Given the description of an element on the screen output the (x, y) to click on. 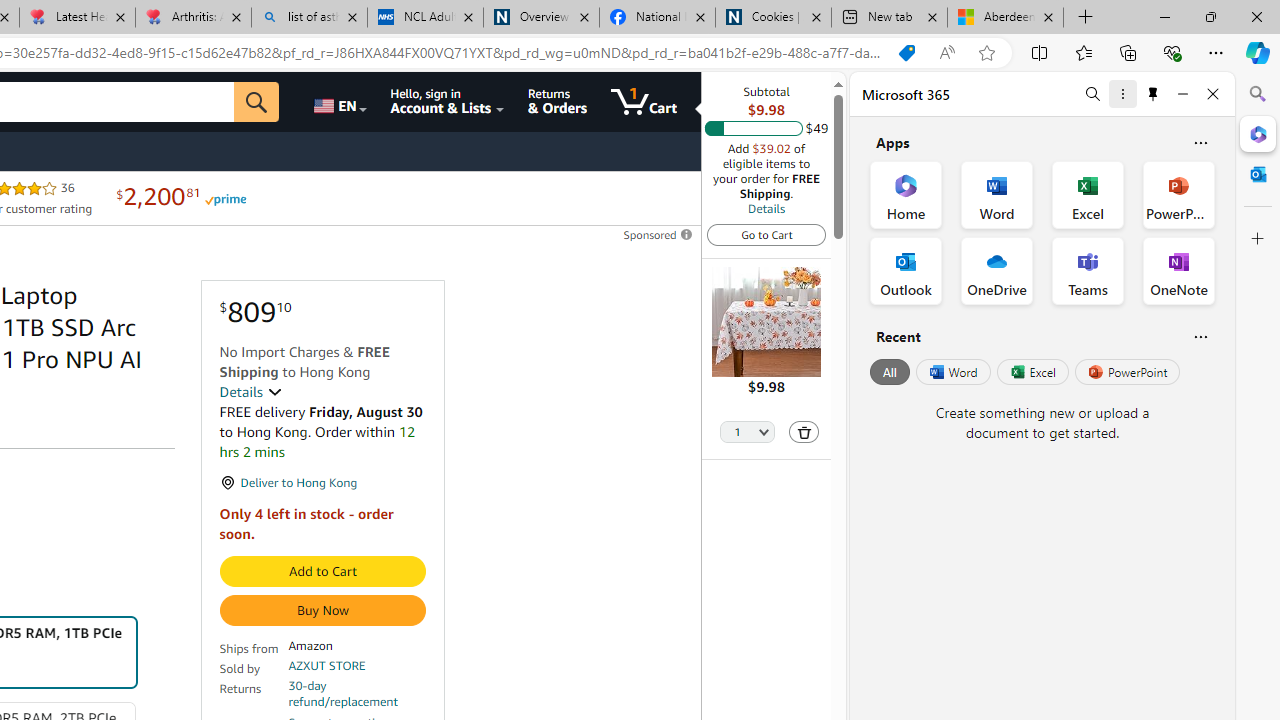
More options (1122, 93)
Word (952, 372)
Buy Now (322, 610)
Returns & Orders (557, 101)
Go to Cart (766, 234)
Cookies | About | NICE (772, 17)
Outlook Office App (906, 270)
Word Office App (996, 194)
OneDrive Office App (996, 270)
Close Outlook pane (1258, 174)
Unpin side pane (1153, 93)
